Given the description of an element on the screen output the (x, y) to click on. 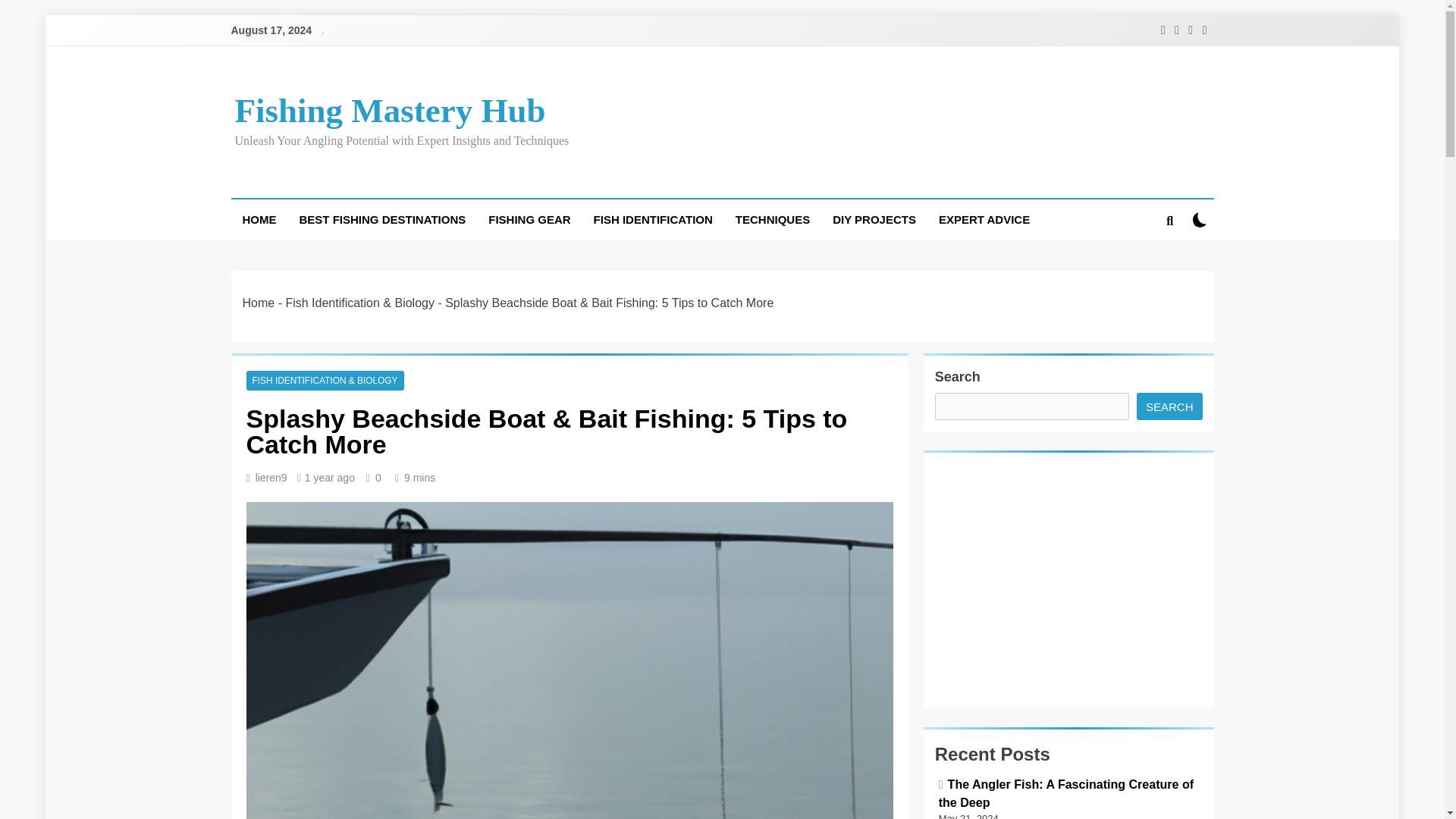
1 year ago (329, 477)
HOME (258, 219)
lieren9 (271, 477)
on (1199, 219)
FISHING GEAR (528, 219)
TECHNIQUES (772, 219)
DIY PROJECTS (874, 219)
EXPERT ADVICE (984, 219)
Home (259, 302)
